Given the description of an element on the screen output the (x, y) to click on. 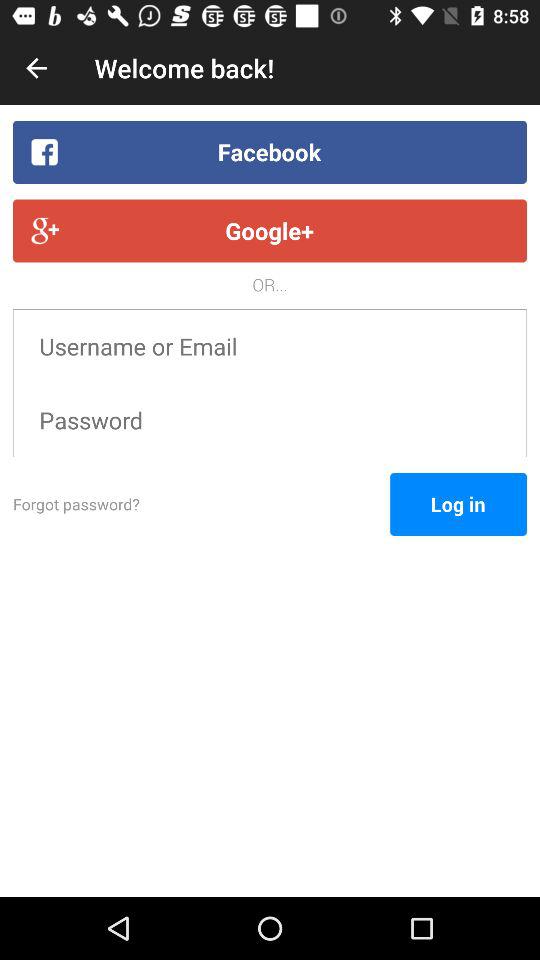
tap the item next to the forgot password? icon (458, 503)
